Given the description of an element on the screen output the (x, y) to click on. 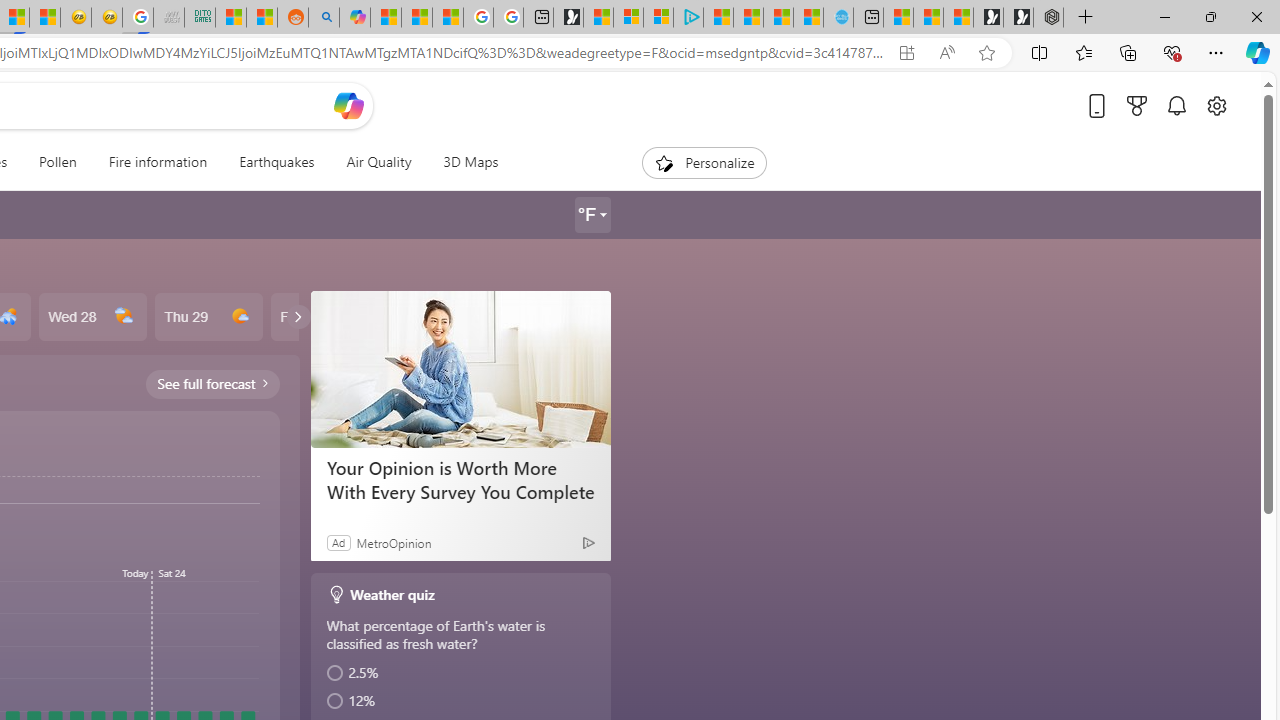
Your Opinion is Worth More With Every Survey You Complete (459, 368)
Earthquakes (276, 162)
Ride with Experts (460, 479)
Utah sues federal government - Search (323, 17)
Open Copilot (347, 105)
Read aloud this page (Ctrl+Shift+U) (946, 53)
Microsoft Start (778, 17)
Earthquakes (276, 162)
Open settings (1216, 105)
Add this page to favorites (Ctrl+D) (986, 53)
MSNBC - MSN (230, 17)
